Given the description of an element on the screen output the (x, y) to click on. 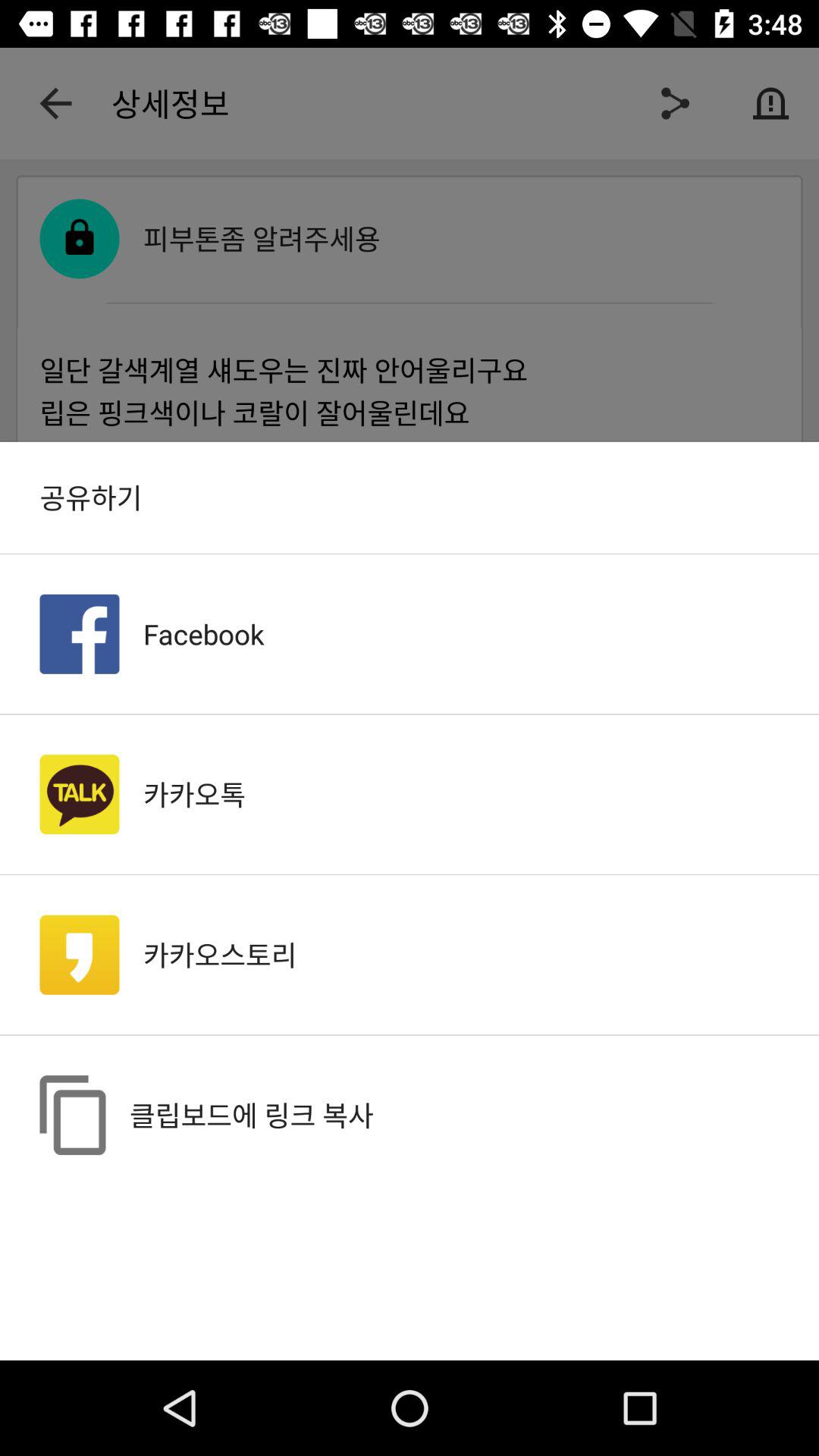
open icon next to the facebook icon (79, 633)
